Given the description of an element on the screen output the (x, y) to click on. 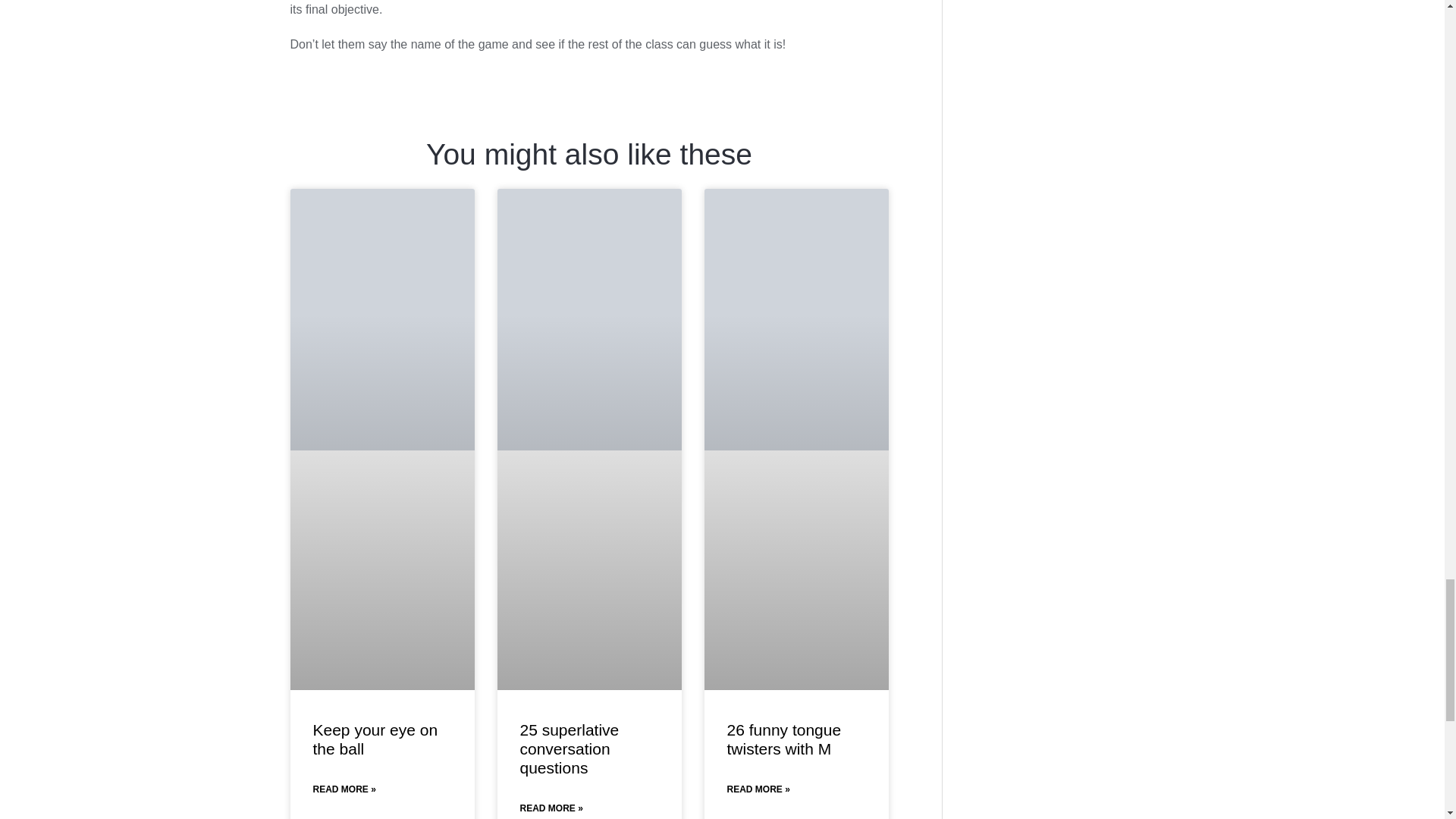
26 funny tongue twisters with M (783, 739)
25 superlative conversation questions (569, 748)
Keep your eye on the ball (375, 739)
